Given the description of an element on the screen output the (x, y) to click on. 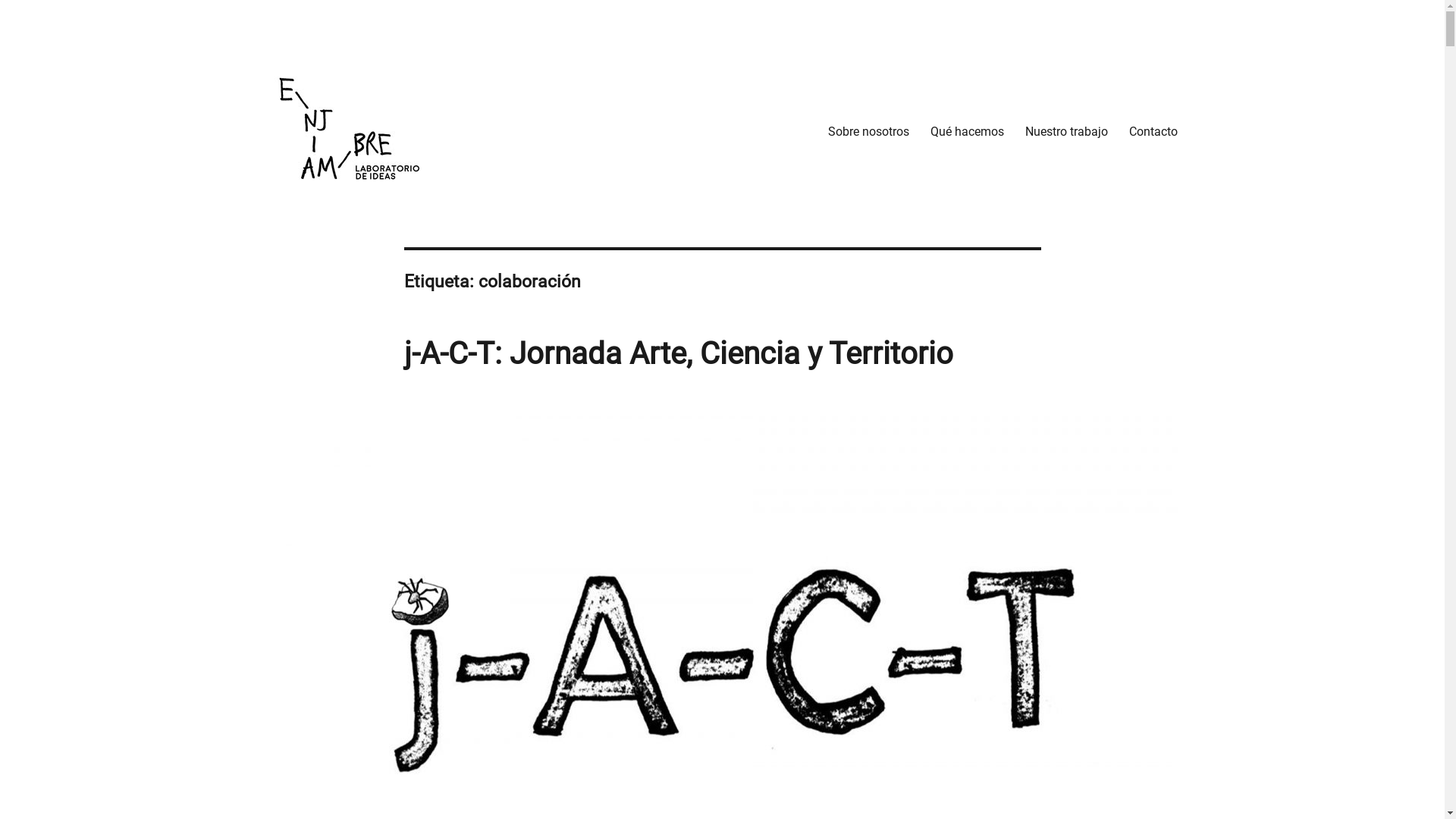
Contacto Element type: text (1152, 131)
j-A-C-T: Jornada Arte, Ciencia y Territorio Element type: text (677, 353)
Sobre nosotros Element type: text (868, 131)
Nuestro trabajo Element type: text (1066, 131)
